Given the description of an element on the screen output the (x, y) to click on. 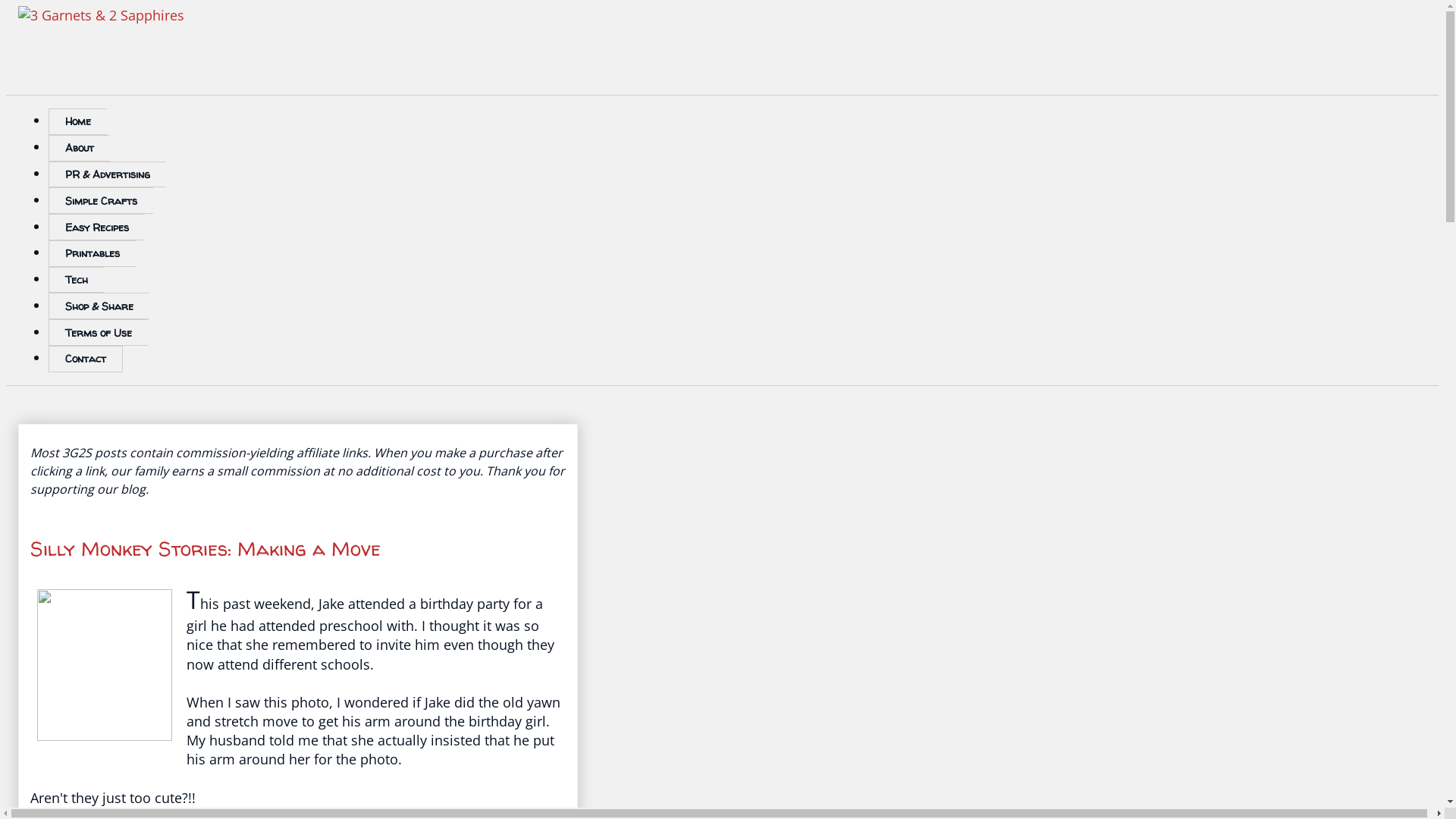
Home Element type: text (77, 121)
Contact Element type: text (85, 358)
Easy Recipes Element type: text (96, 226)
Printables Element type: text (91, 253)
Shop & Share Element type: text (98, 305)
Terms of Use Element type: text (97, 332)
PR & Advertising Element type: text (107, 174)
Tech Element type: text (75, 279)
About Element type: text (78, 147)
Simple Crafts Element type: text (100, 200)
